Given the description of an element on the screen output the (x, y) to click on. 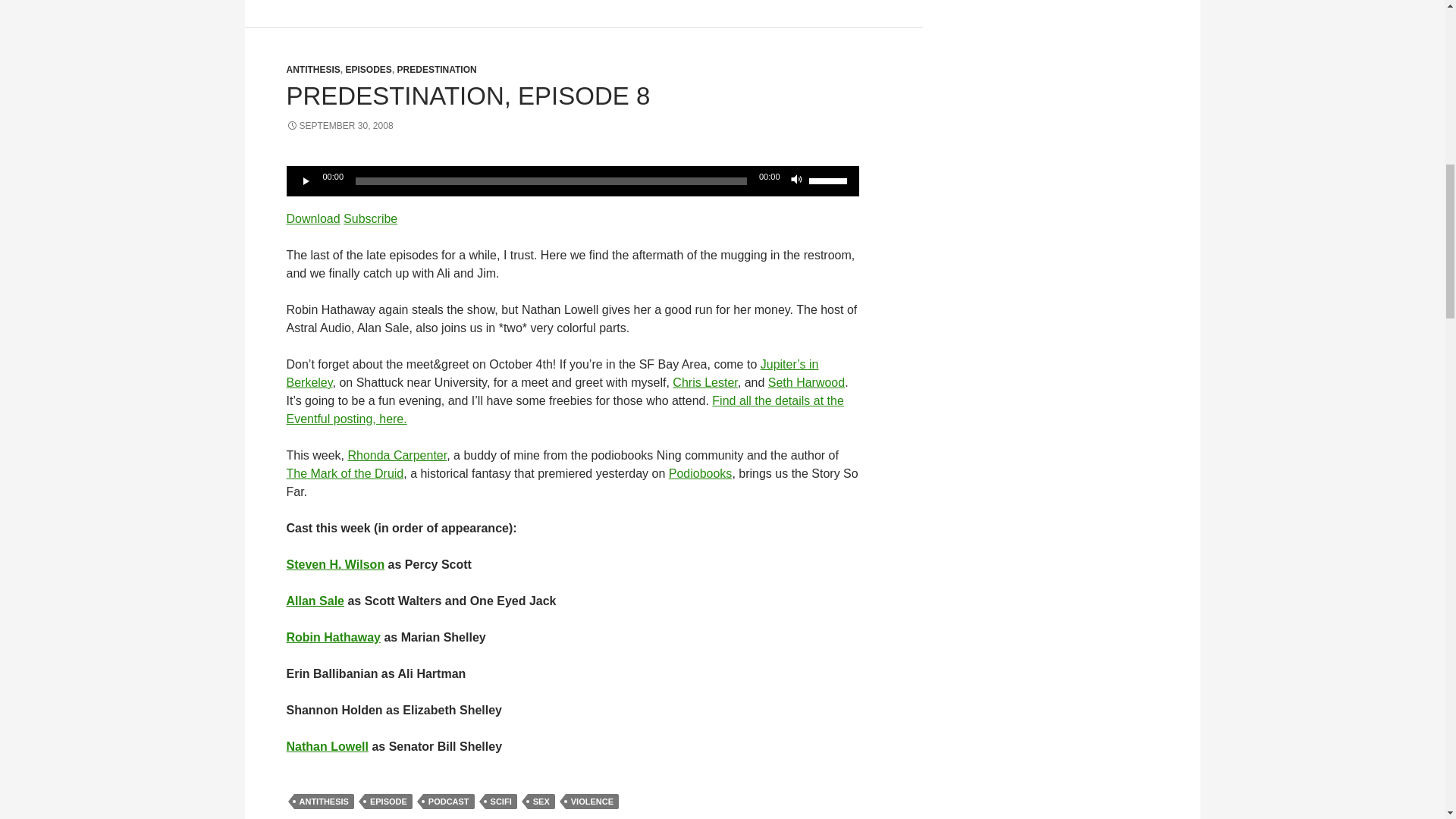
ANTITHESIS (313, 69)
Mute (796, 181)
Play (306, 181)
EPISODES (368, 69)
